Given the description of an element on the screen output the (x, y) to click on. 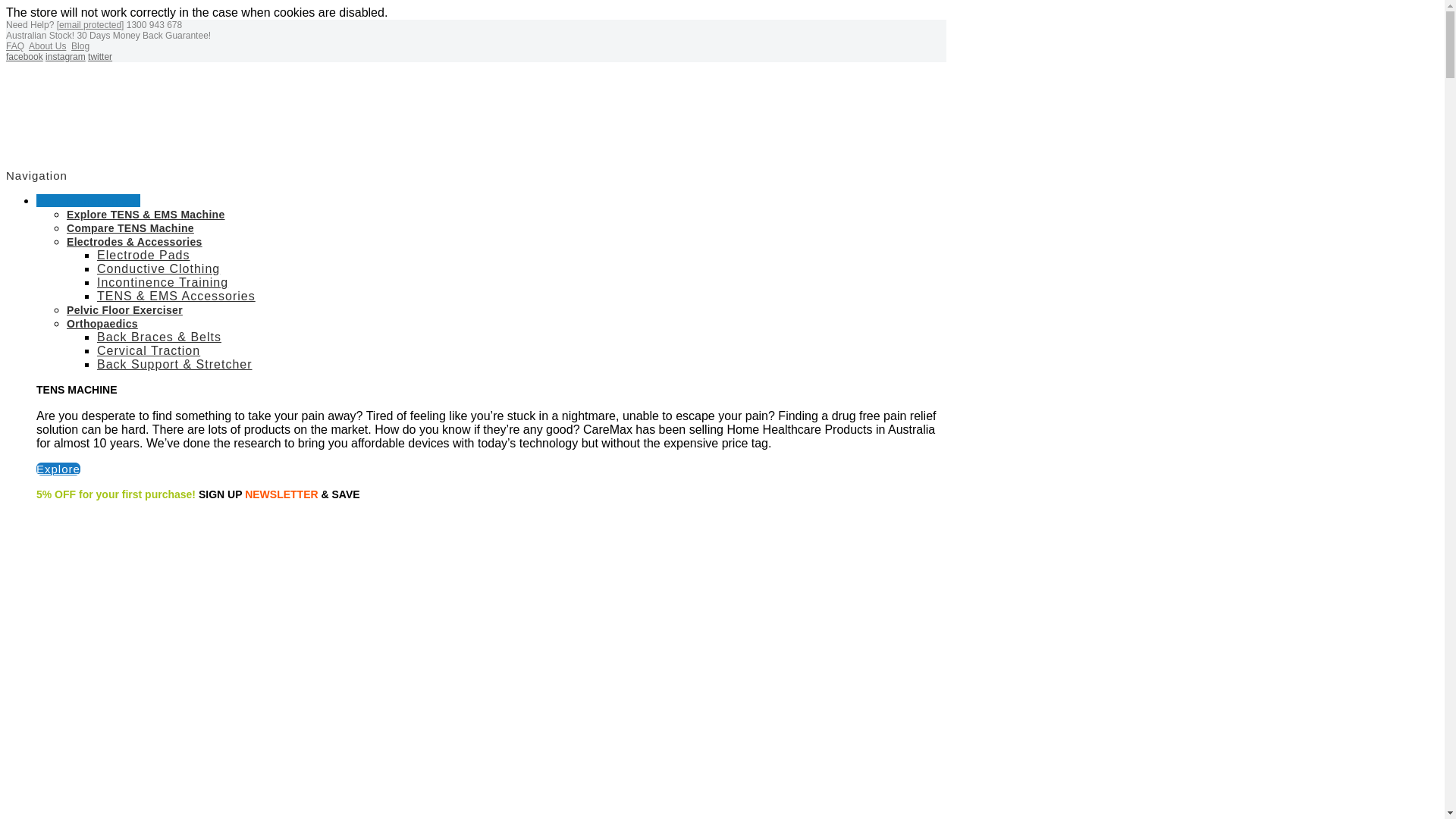
twitter (99, 56)
Explore (58, 468)
Pelvic Floor Exerciser (124, 309)
Blog (79, 45)
CareMax (63, 149)
About Us (47, 45)
CareMax (63, 126)
CareMax (63, 113)
FAQ (14, 45)
Cervical Traction (148, 350)
Incontinence Training (162, 282)
CareMax (63, 78)
Electrode Pads (143, 254)
Compare TENS Machine (129, 227)
facebook (24, 56)
